Given the description of an element on the screen output the (x, y) to click on. 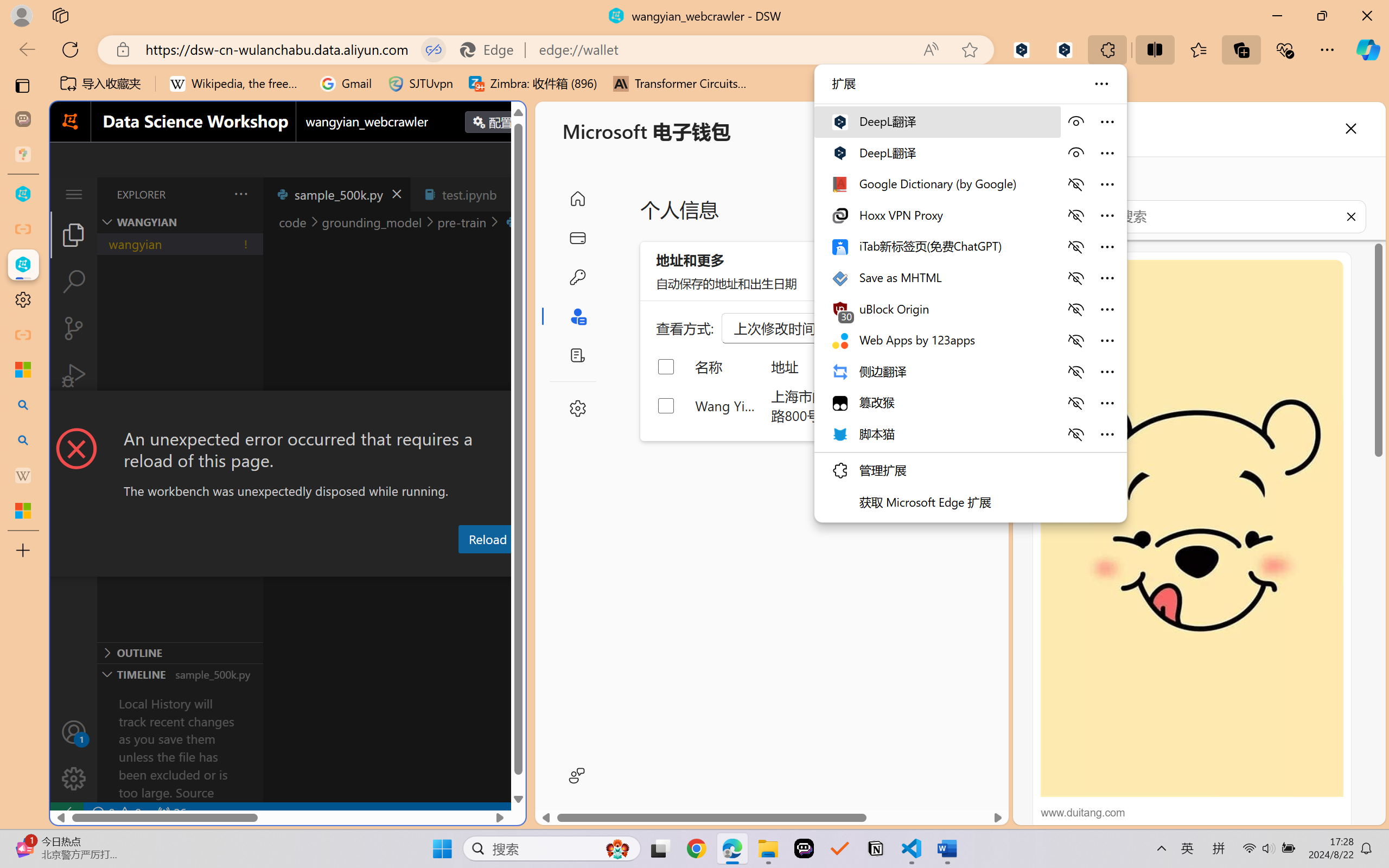
Output (Ctrl+Shift+U) (377, 565)
Wang Yian (725, 405)
Reload (486, 538)
wangyian_dsw - DSW (22, 194)
Explorer (Ctrl+Shift+E) (73, 234)
Microsoft security help and learning (22, 369)
Hoxx VPN Proxy (936, 214)
Class: actions-container (287, 410)
Save as MHTML (936, 277)
